Given the description of an element on the screen output the (x, y) to click on. 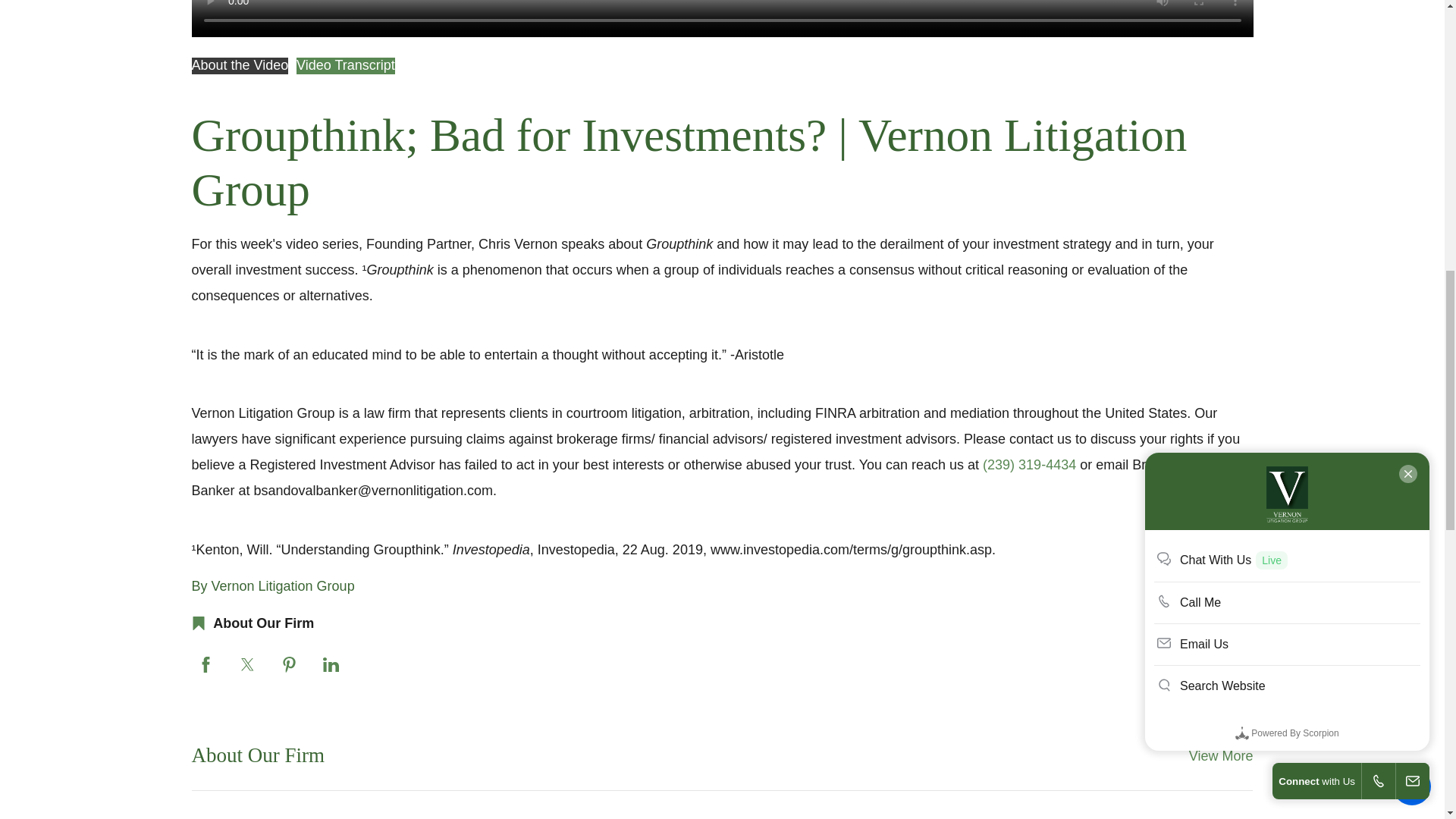
About Our Firm (1221, 755)
